Given the description of an element on the screen output the (x, y) to click on. 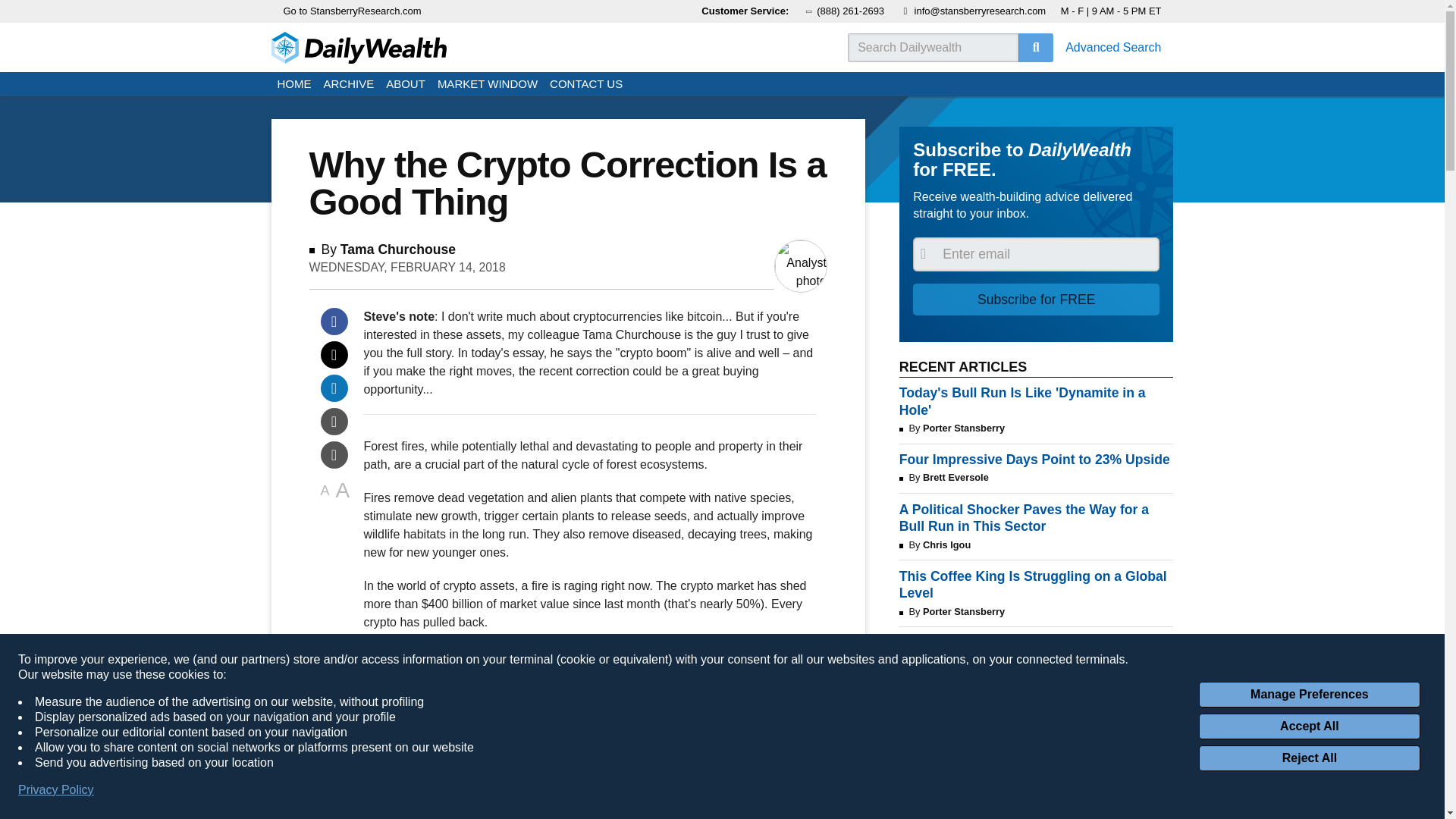
Privacy Policy (55, 789)
Today's Bull Run Is Like 'Dynamite in a Hole' (1036, 401)
Accept All (1309, 726)
CONTACT US (585, 84)
Go to StansberryResearch.com (352, 11)
HOME (293, 84)
ABOUT (405, 84)
Reject All (1309, 758)
Advanced Search (1112, 46)
ARCHIVE (348, 84)
Subscribe for FREE (1035, 299)
MARKET WINDOW (486, 84)
Manage Preferences (1309, 694)
